Given the description of an element on the screen output the (x, y) to click on. 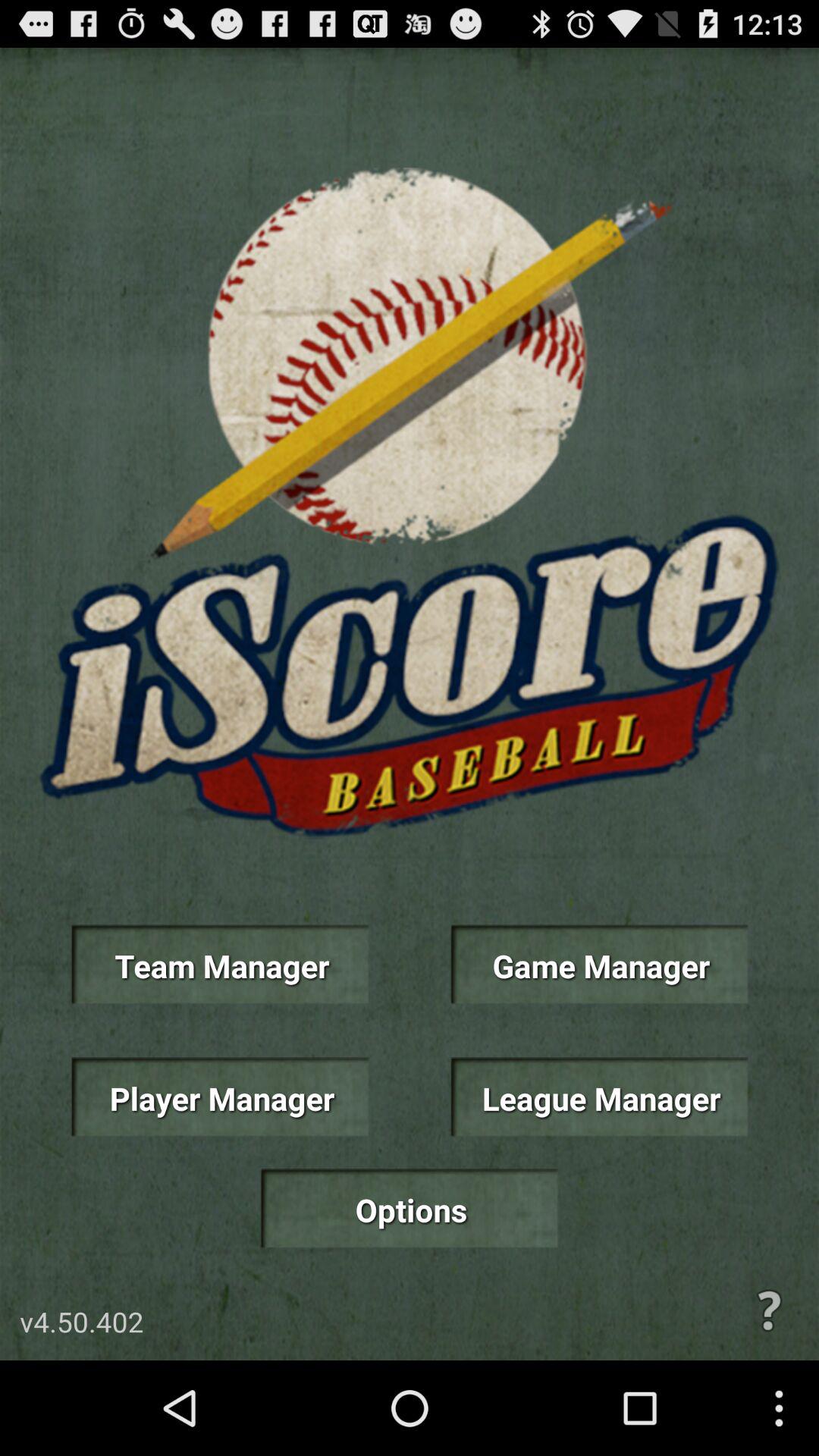
press the icon next to the league manager button (219, 1096)
